Given the description of an element on the screen output the (x, y) to click on. 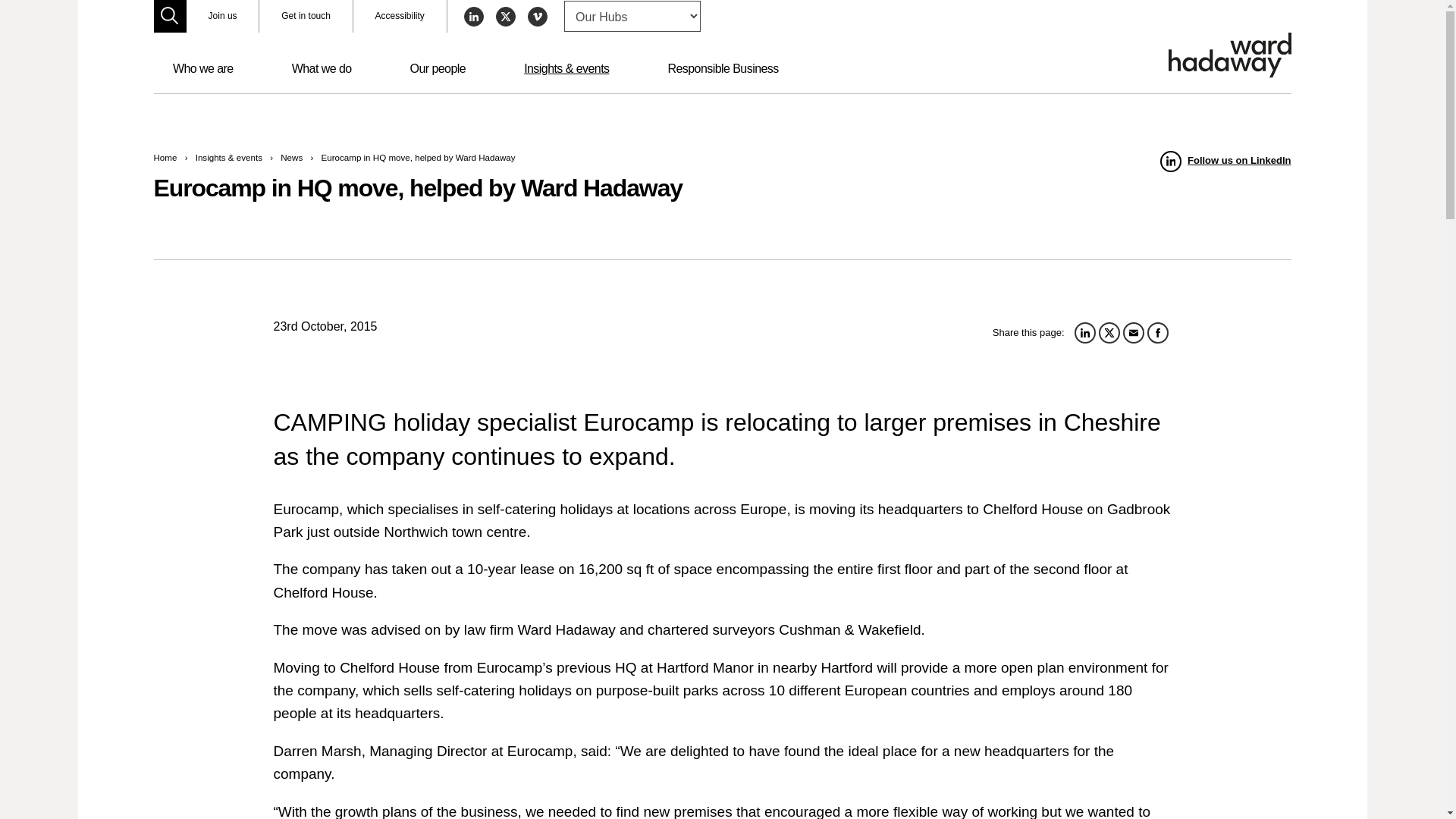
Accessibility (399, 16)
What we do (321, 68)
Home (164, 157)
News (291, 157)
Share this article on twitter (1108, 332)
Responsible Business (722, 68)
Follow Ward Hadaway on LinkedIn (1225, 160)
Get in touch (305, 16)
Who we are (202, 68)
Follow Ward Hadaway on Twitter (505, 16)
Follow Ward Hadaway on Vimeo (537, 16)
Accessibility (399, 16)
Follow us on LinkedIn (1225, 160)
Join us (222, 16)
Get in touch (305, 16)
